Given the description of an element on the screen output the (x, y) to click on. 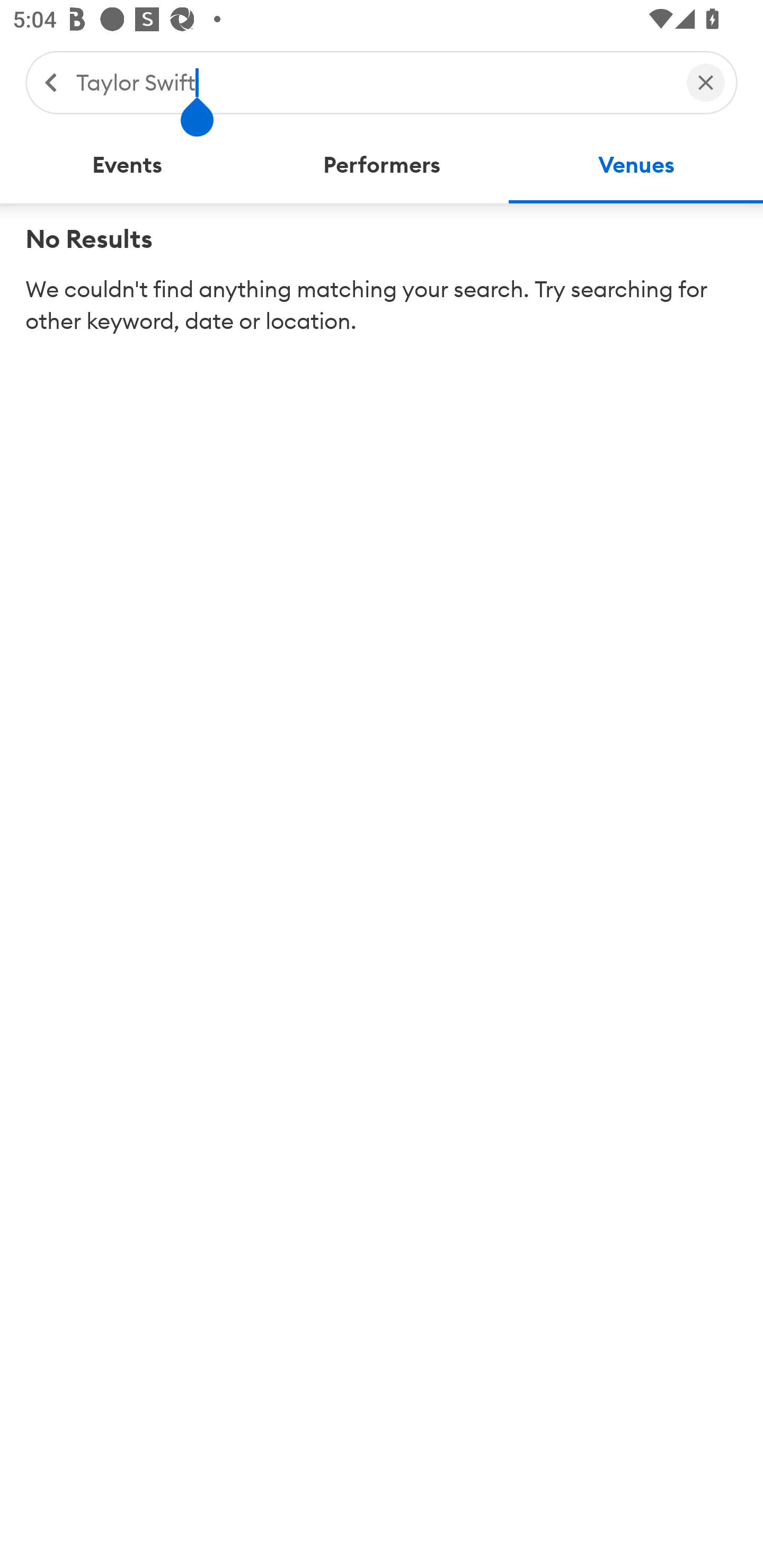
Taylor Swift (371, 81)
Clear Search (705, 81)
Events (127, 165)
Performers (381, 165)
